Given the description of an element on the screen output the (x, y) to click on. 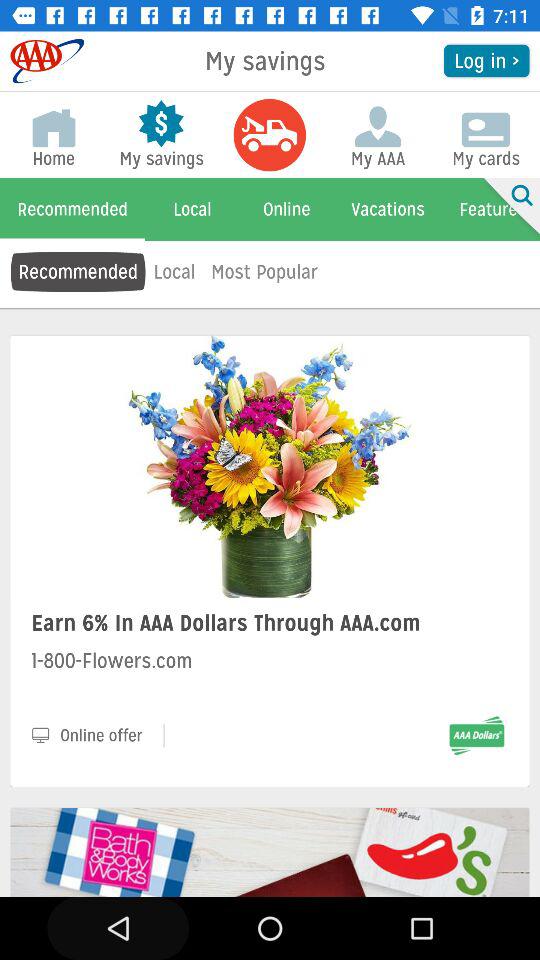
scroll until the most popular (264, 271)
